Given the description of an element on the screen output the (x, y) to click on. 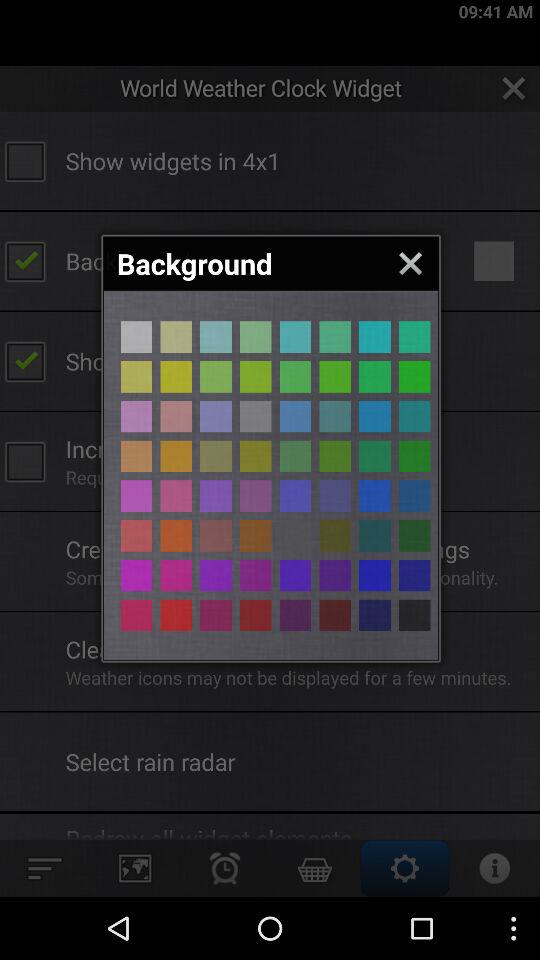
selects the highlighted color (215, 336)
